Given the description of an element on the screen output the (x, y) to click on. 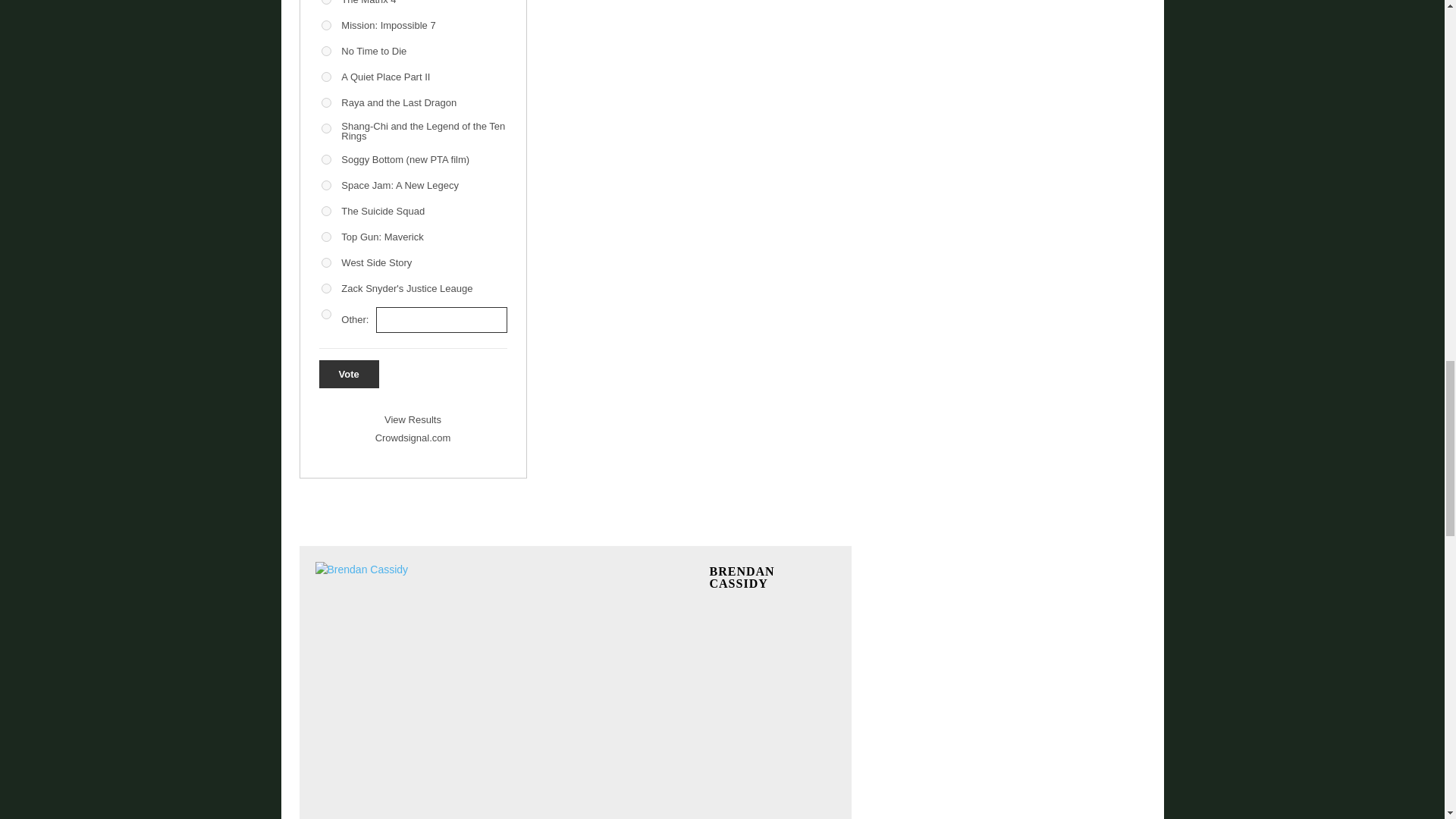
49550033 (326, 128)
49550002 (326, 50)
49550030 (326, 25)
49550032 (326, 76)
49550029 (326, 2)
49550034 (326, 185)
49554276 (326, 159)
49554275 (326, 102)
